Given the description of an element on the screen output the (x, y) to click on. 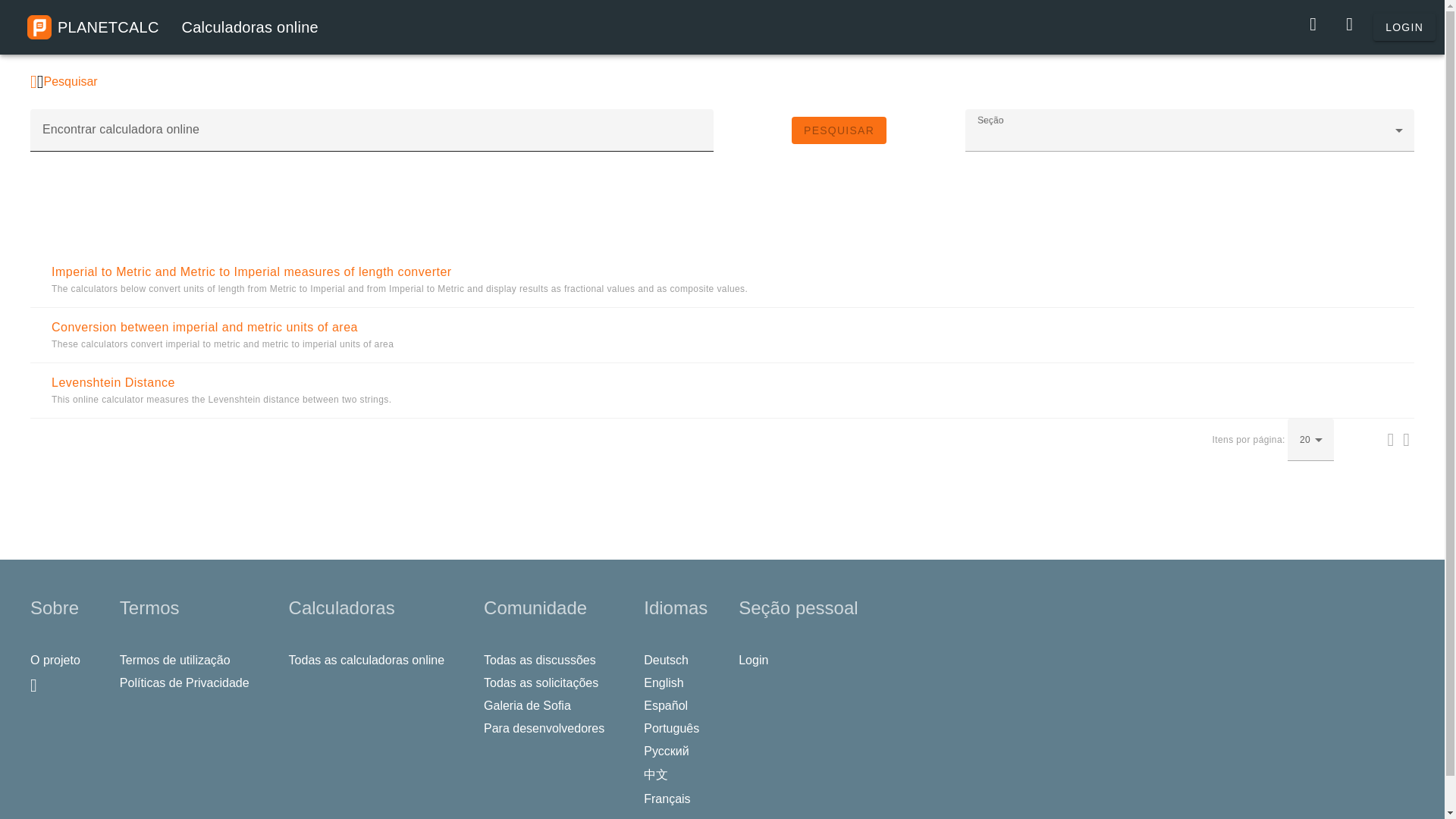
Todas as calculadoras online (370, 659)
PLANETCALC Calculadoras online (172, 27)
PESQUISAR (839, 130)
Pesquisar (70, 81)
Levenshtein Distance (112, 382)
Login (757, 659)
O projeto (59, 659)
English (668, 682)
LOGIN (1404, 26)
Calculadoras online (172, 27)
